Given the description of an element on the screen output the (x, y) to click on. 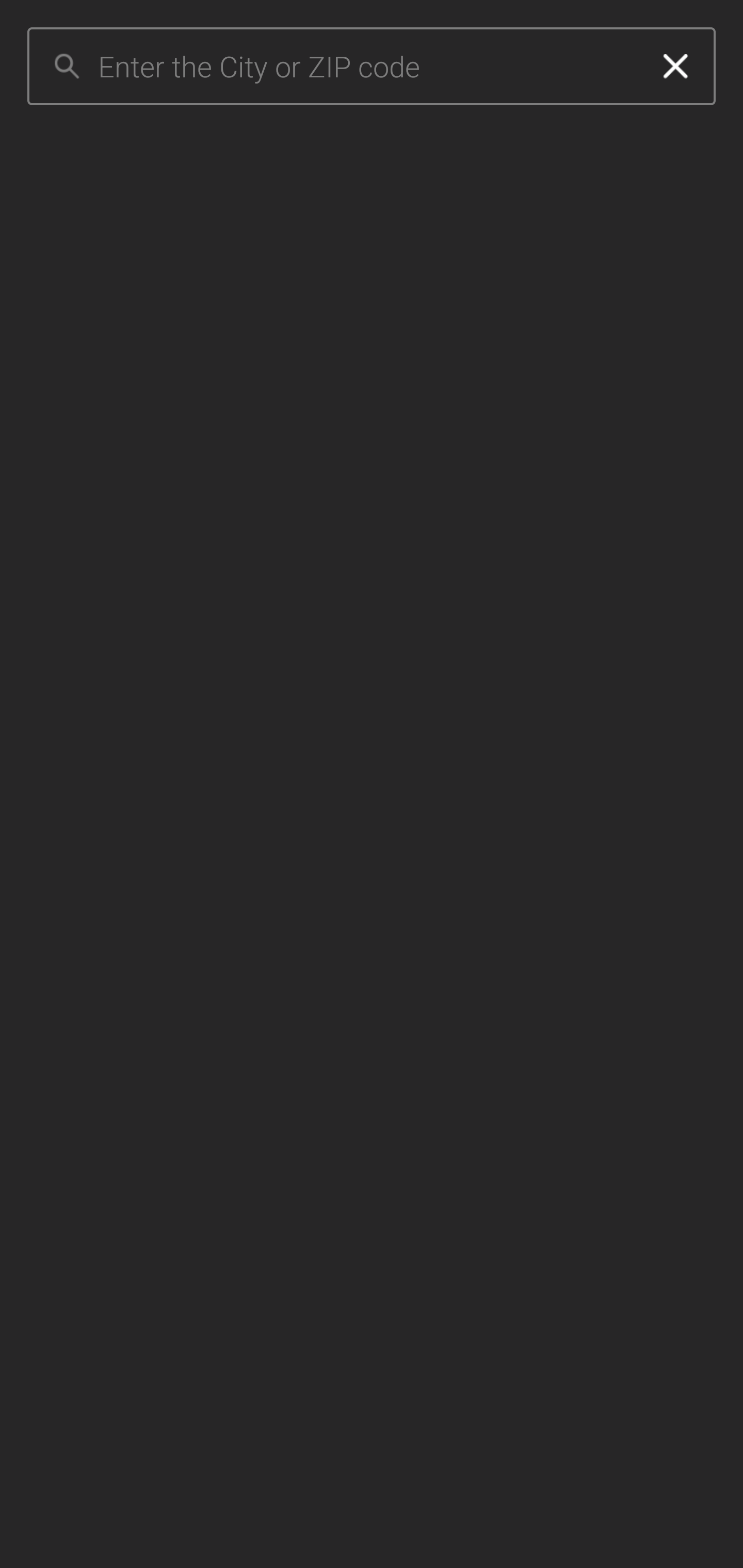
Enter the City or ZIP code (367, 66)
